Given the description of an element on the screen output the (x, y) to click on. 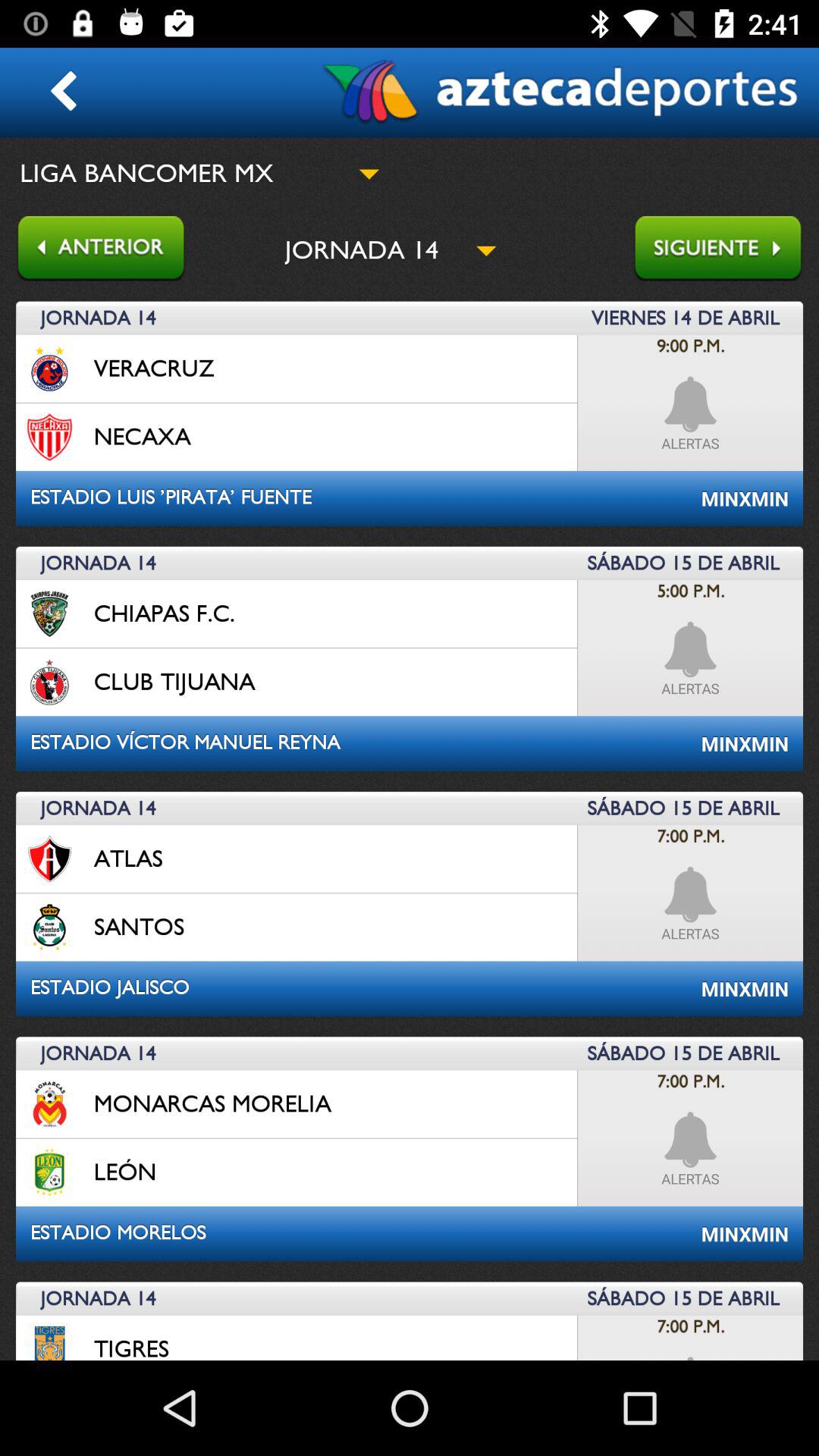
go back (92, 249)
